Given the description of an element on the screen output the (x, y) to click on. 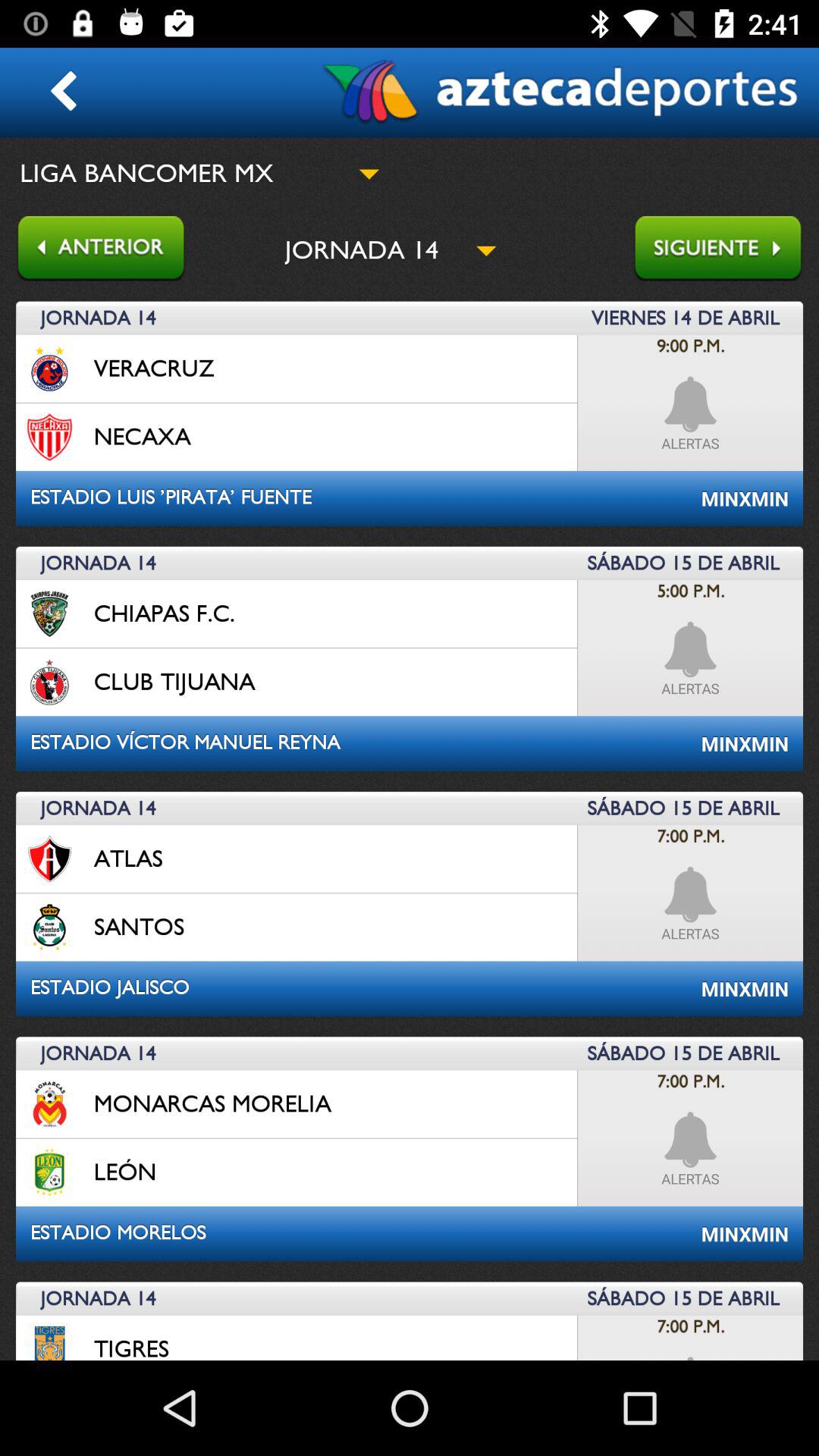
go back (92, 249)
